Given the description of an element on the screen output the (x, y) to click on. 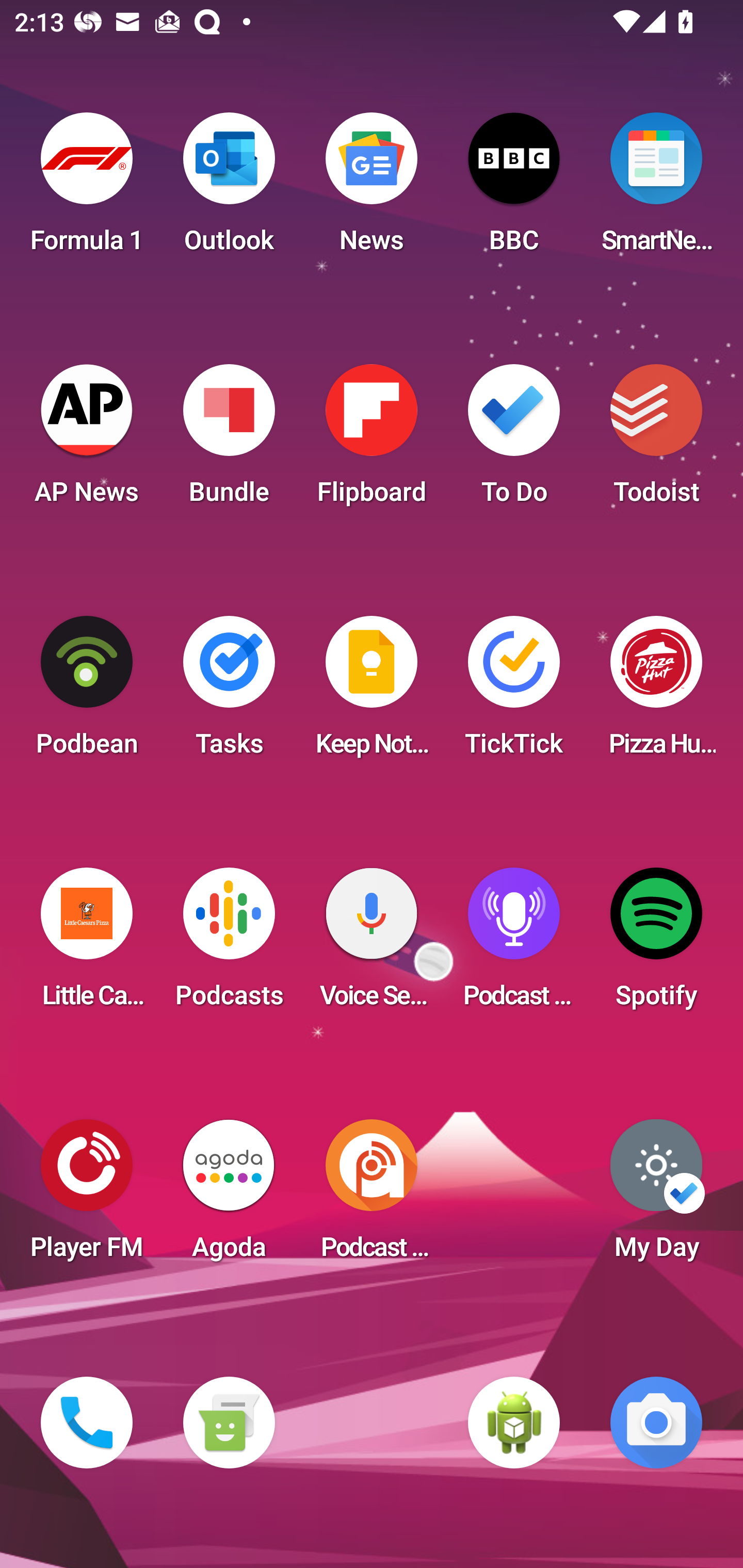
Formula 1 (86, 188)
Outlook (228, 188)
News (371, 188)
BBC (513, 188)
SmartNews (656, 188)
AP News (86, 440)
Bundle (228, 440)
Flipboard (371, 440)
To Do (513, 440)
Todoist (656, 440)
Podbean (86, 692)
Tasks (228, 692)
Keep Notes (371, 692)
TickTick (513, 692)
Pizza Hut HK & Macau (656, 692)
Little Caesars Pizza (86, 943)
Podcasts (228, 943)
Voice Search (371, 943)
Podcast Player (513, 943)
Spotify (656, 943)
Player FM (86, 1195)
Agoda (228, 1195)
Podcast Addict (371, 1195)
My Day (656, 1195)
Phone (86, 1422)
Messaging (228, 1422)
WebView Browser Tester (513, 1422)
Camera (656, 1422)
